Given the description of an element on the screen output the (x, y) to click on. 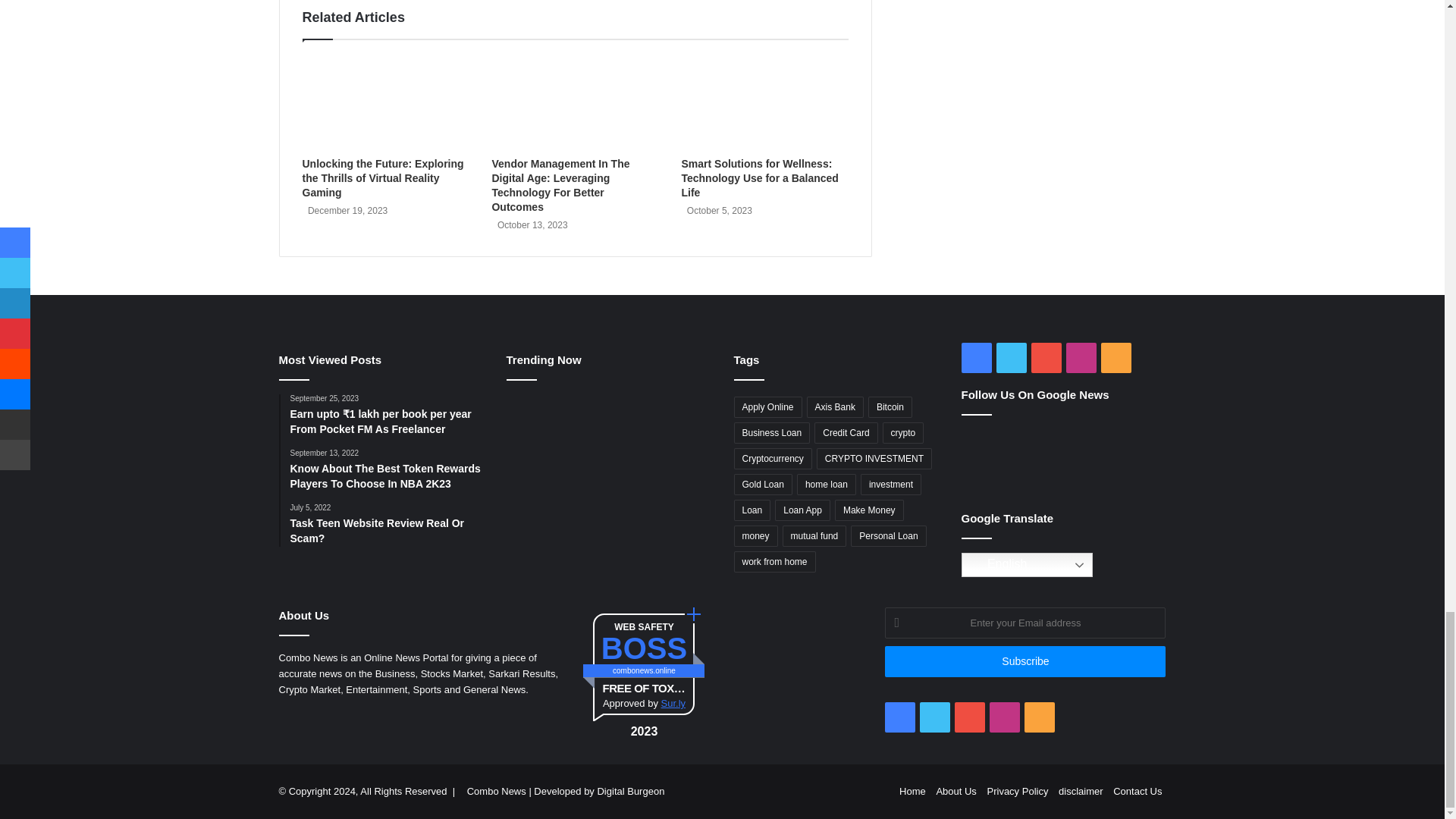
Subscribe (1025, 661)
